Given the description of an element on the screen output the (x, y) to click on. 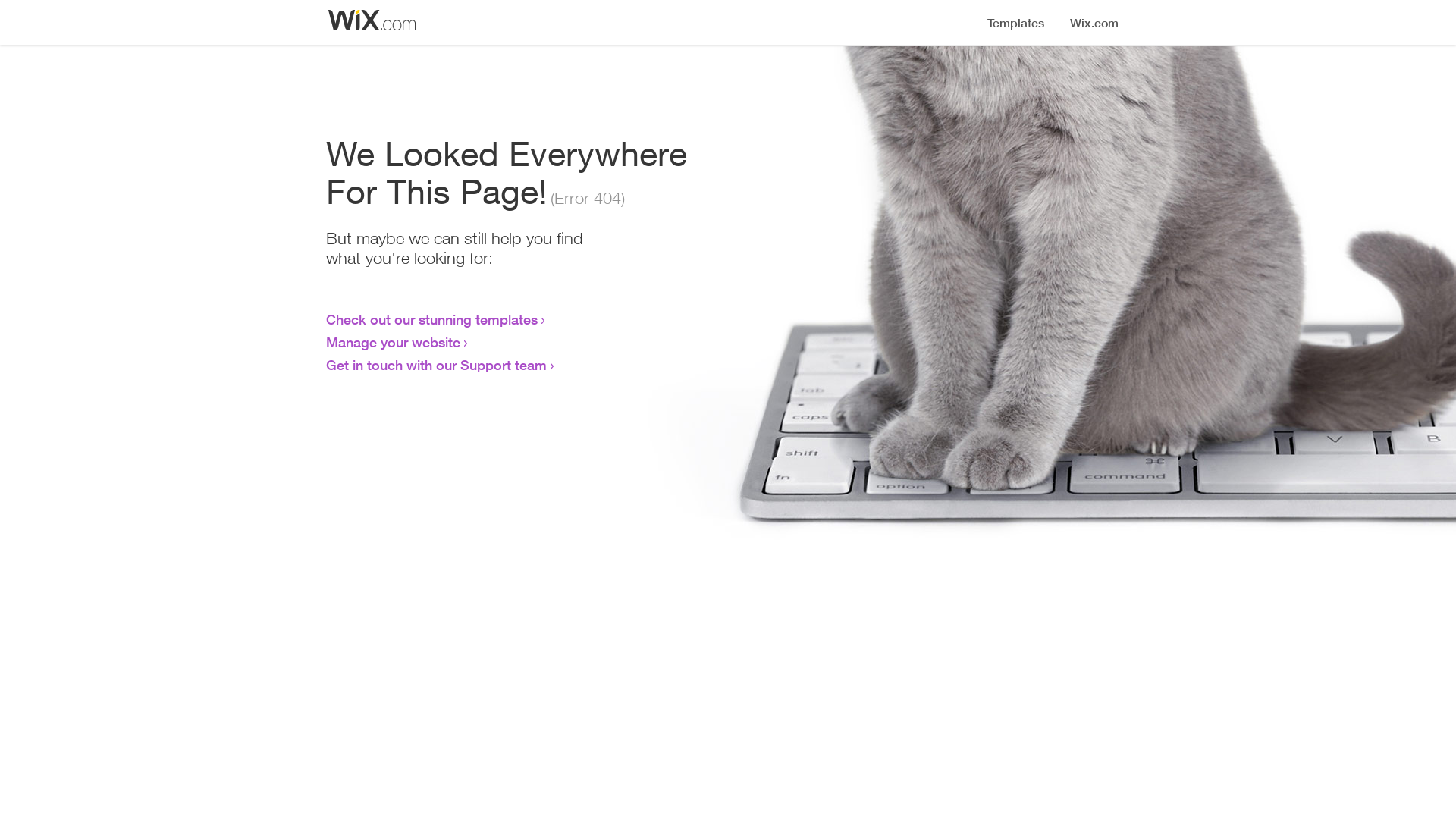
Manage your website Element type: text (393, 341)
Get in touch with our Support team Element type: text (436, 364)
Check out our stunning templates Element type: text (431, 318)
